Given the description of an element on the screen output the (x, y) to click on. 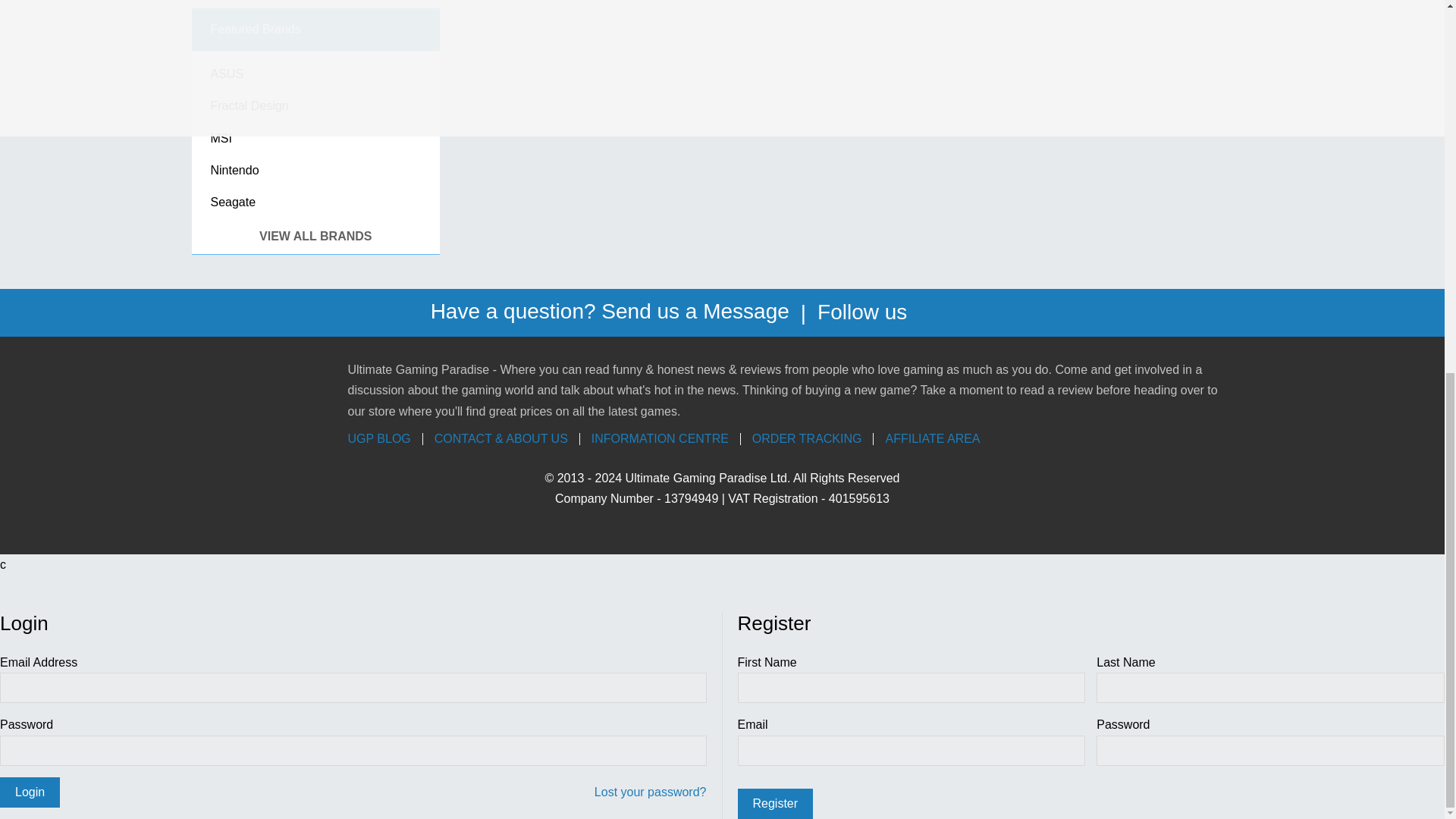
LiveChat chat widget (1397, 89)
